Given the description of an element on the screen output the (x, y) to click on. 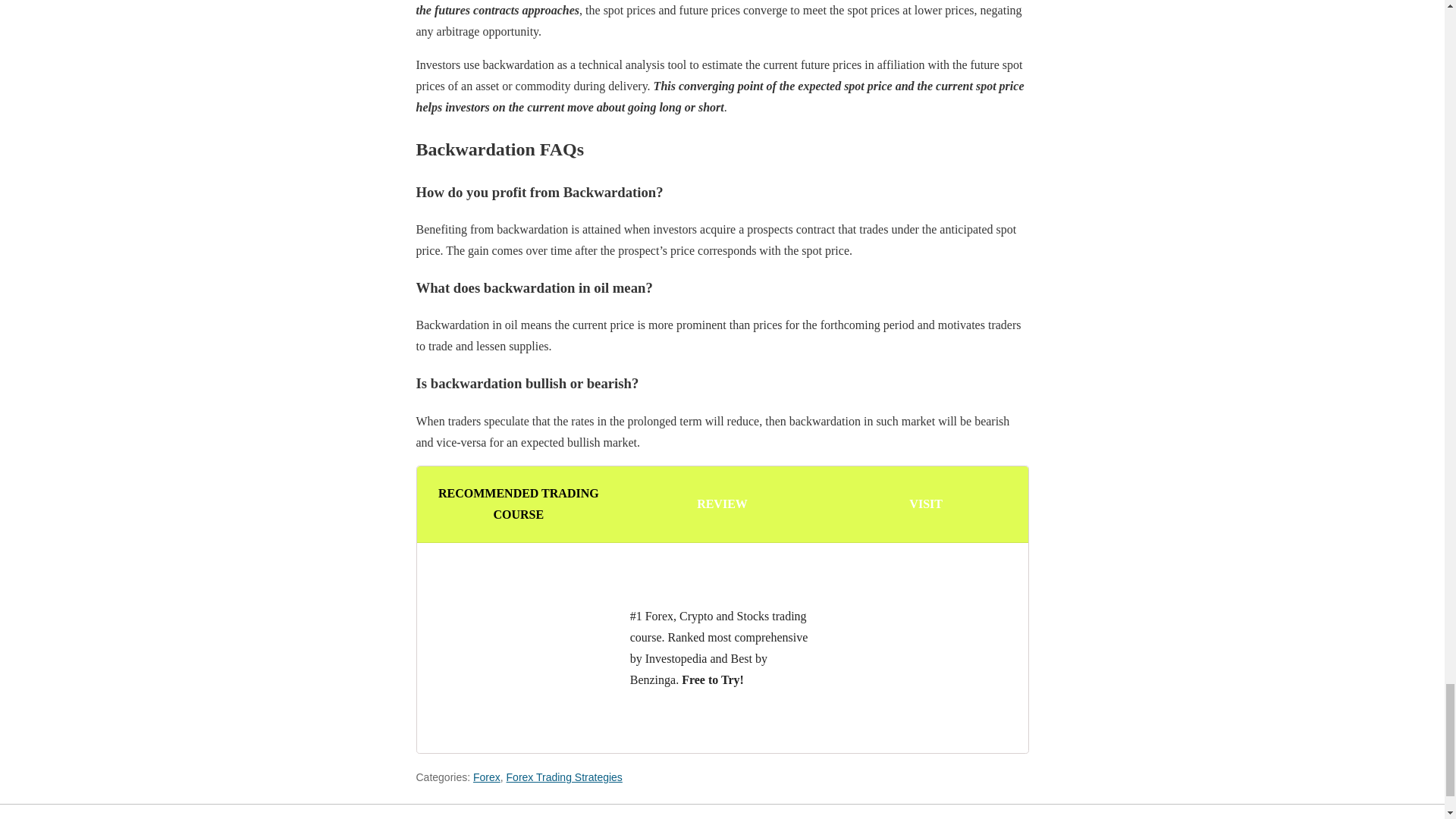
Forex Trading Strategies (564, 776)
Forex (486, 776)
